Given the description of an element on the screen output the (x, y) to click on. 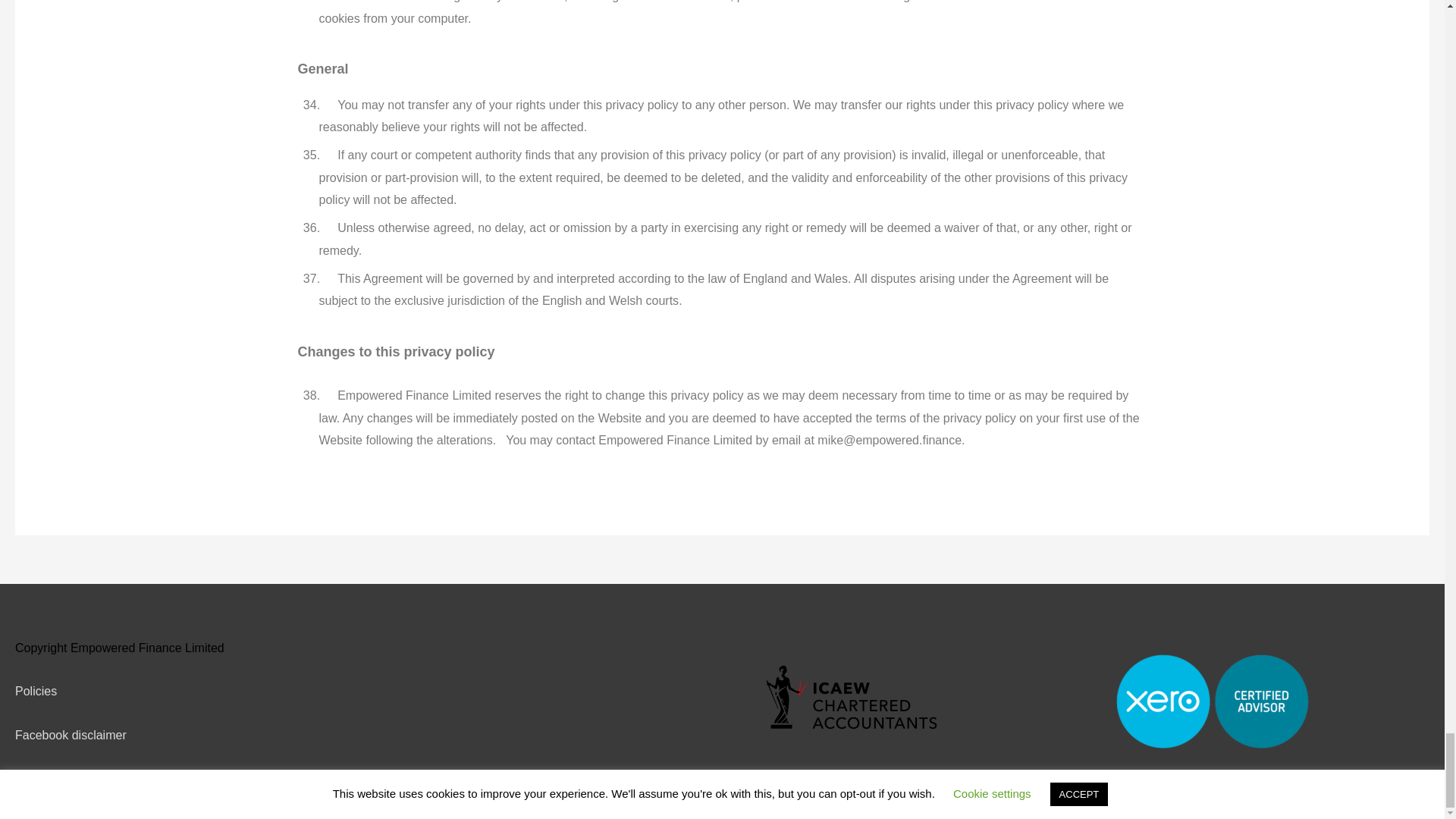
Policies (35, 690)
Facebook disclaimer (70, 735)
